Given the description of an element on the screen output the (x, y) to click on. 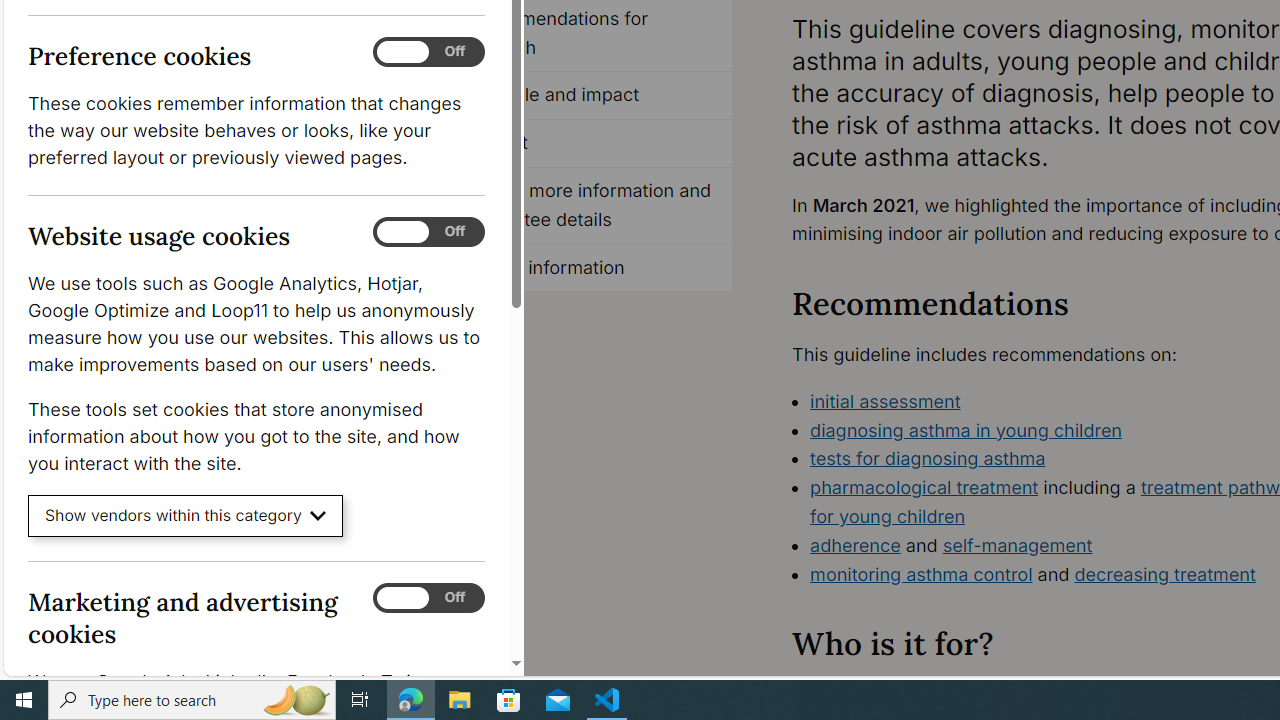
initial assessment (885, 400)
Update information (587, 268)
Update information (588, 268)
decreasing treatment (1164, 573)
Context (588, 143)
Rationale and impact (588, 96)
